Given the description of an element on the screen output the (x, y) to click on. 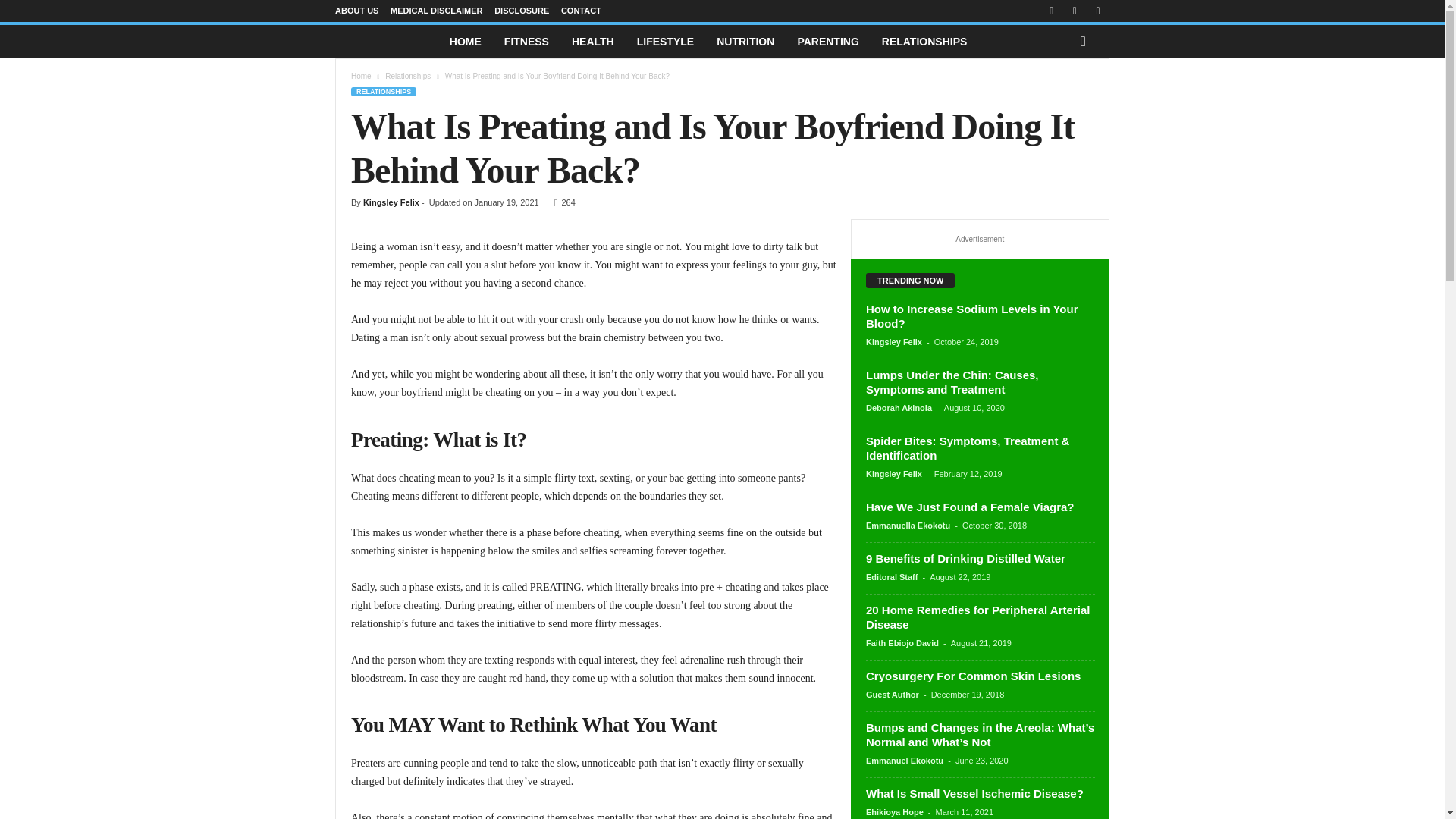
RELATIONSHIPS (924, 41)
HOME (465, 41)
FITNESS (526, 41)
CONTACT (580, 10)
DISCLOSURE (521, 10)
RELATIONSHIPS (383, 91)
View all posts in Relationships (407, 76)
Kingsley Felix (390, 202)
Healthtian (386, 41)
NUTRITION (745, 41)
PARENTING (827, 41)
Relationships (407, 76)
Home (360, 76)
HEALTH (593, 41)
LIFESTYLE (665, 41)
